Given the description of an element on the screen output the (x, y) to click on. 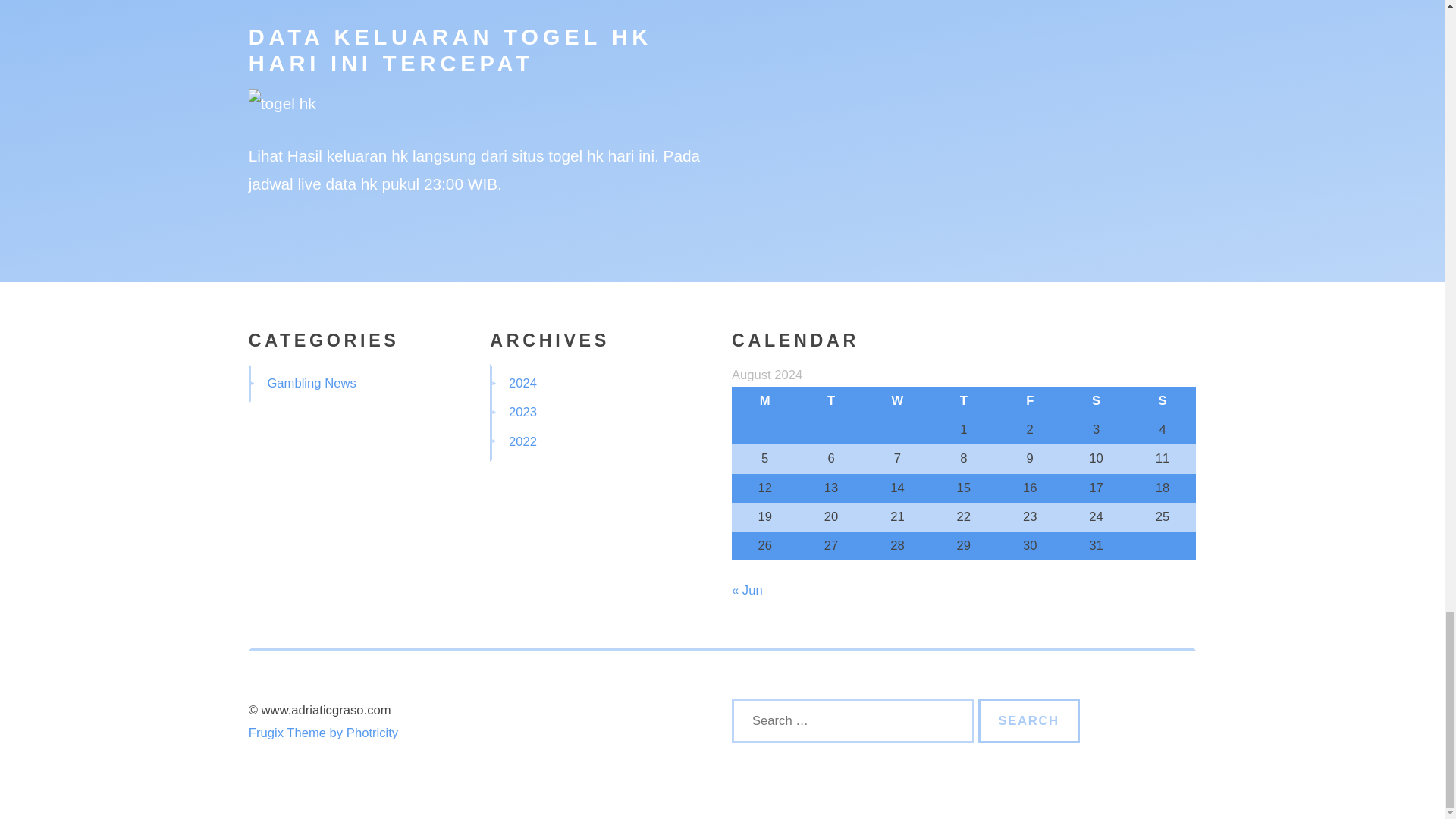
Wednesday (897, 400)
togel hk (576, 155)
Tuesday (830, 400)
Sunday (1162, 400)
Saturday (1095, 400)
2024 (522, 382)
Search (1029, 720)
Friday (1029, 400)
2023 (522, 411)
Thursday (962, 400)
Gambling News (310, 382)
Search (1029, 720)
Monday (764, 400)
togel hk (281, 103)
